Given the description of an element on the screen output the (x, y) to click on. 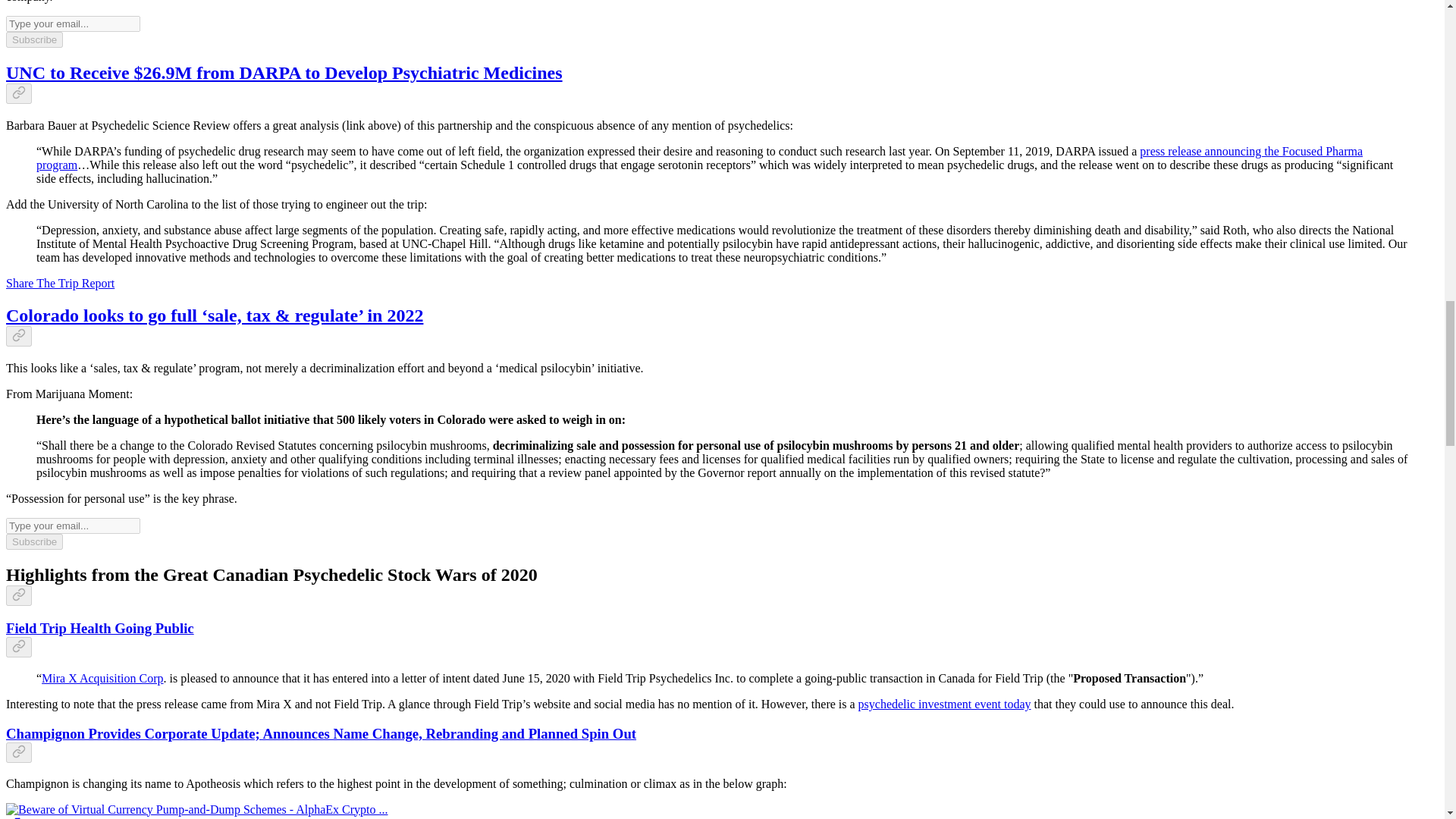
Share The Trip Report (60, 282)
Subscribe (33, 39)
press release announcing the Focused Pharma program (699, 157)
